Given the description of an element on the screen output the (x, y) to click on. 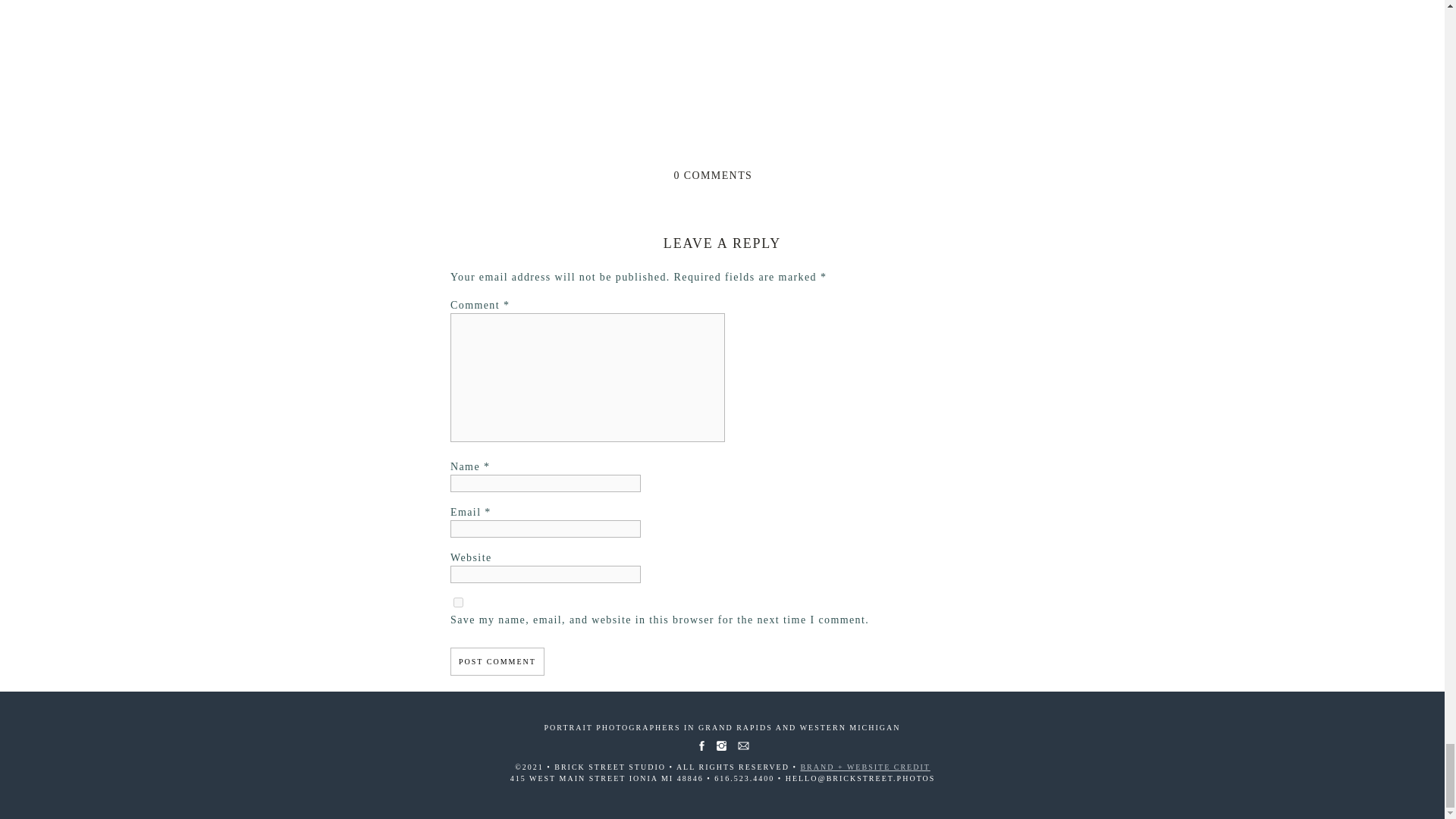
yes (457, 602)
Post Comment (496, 661)
Post Comment (496, 661)
